Given the description of an element on the screen output the (x, y) to click on. 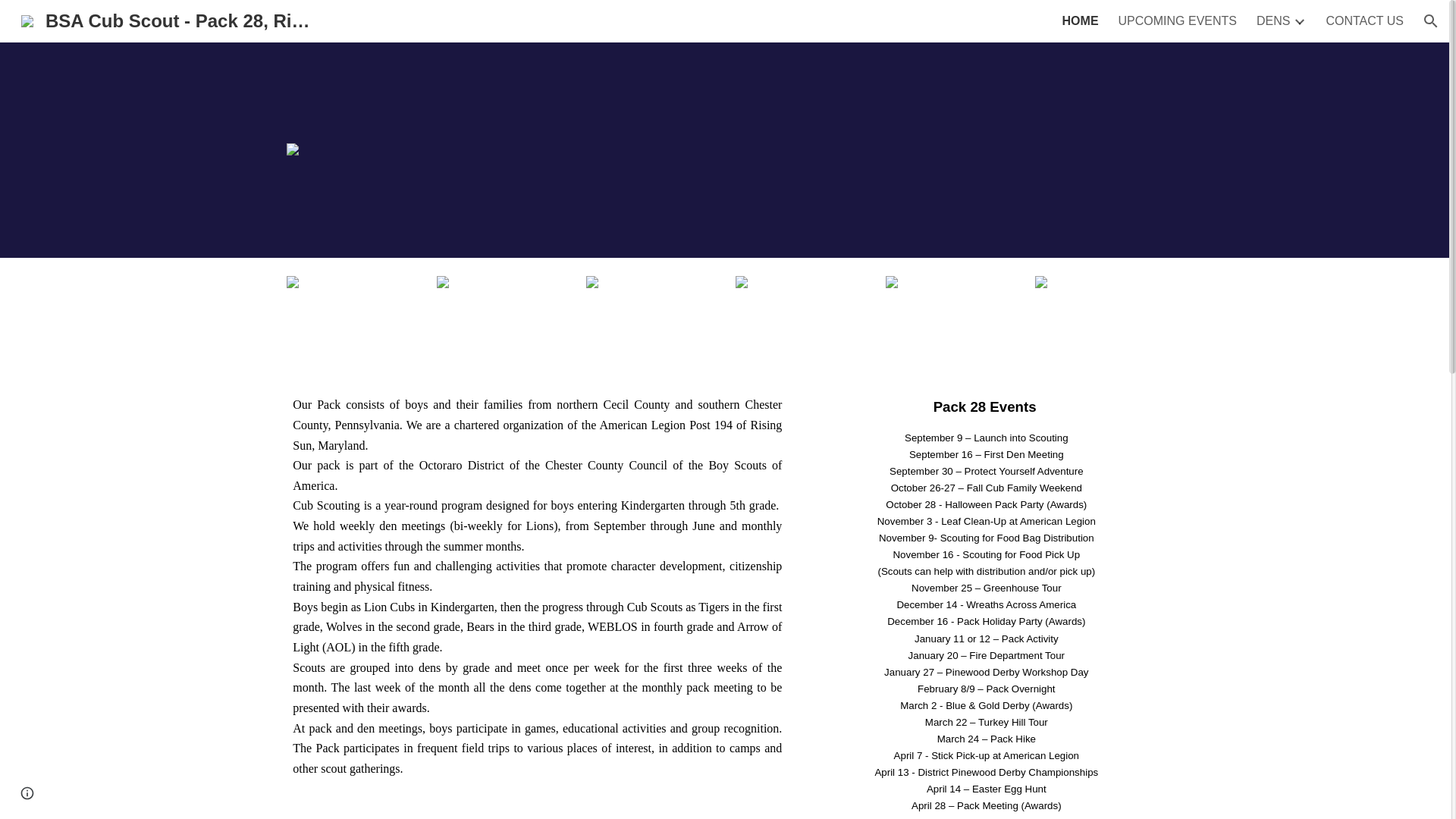
CONTACT US (1363, 20)
UPCOMING EVENTS (1177, 20)
BSA Cub Scout - Pack 28, Rising Sun MD (167, 19)
DENS (1273, 20)
HOME (1080, 20)
